Given the description of an element on the screen output the (x, y) to click on. 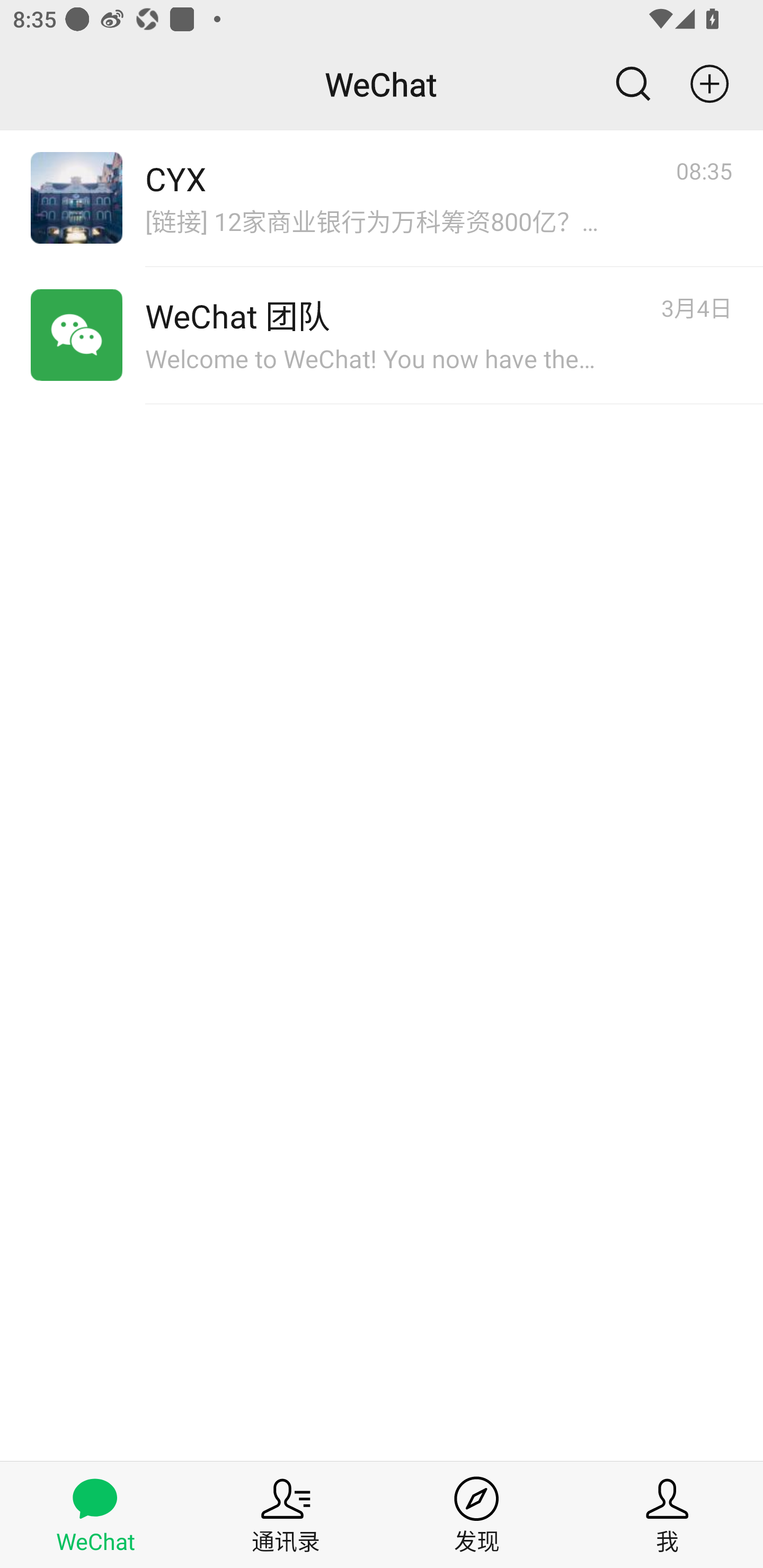
WeChat 搜索 更多功能按钮 (381, 83)
CYX 08:35 [链接] 12家商业银行为万科筹资800亿？… (381, 198)
WeChat (95, 1514)
通讯录 (285, 1514)
发现 (476, 1514)
我 (667, 1514)
